Given the description of an element on the screen output the (x, y) to click on. 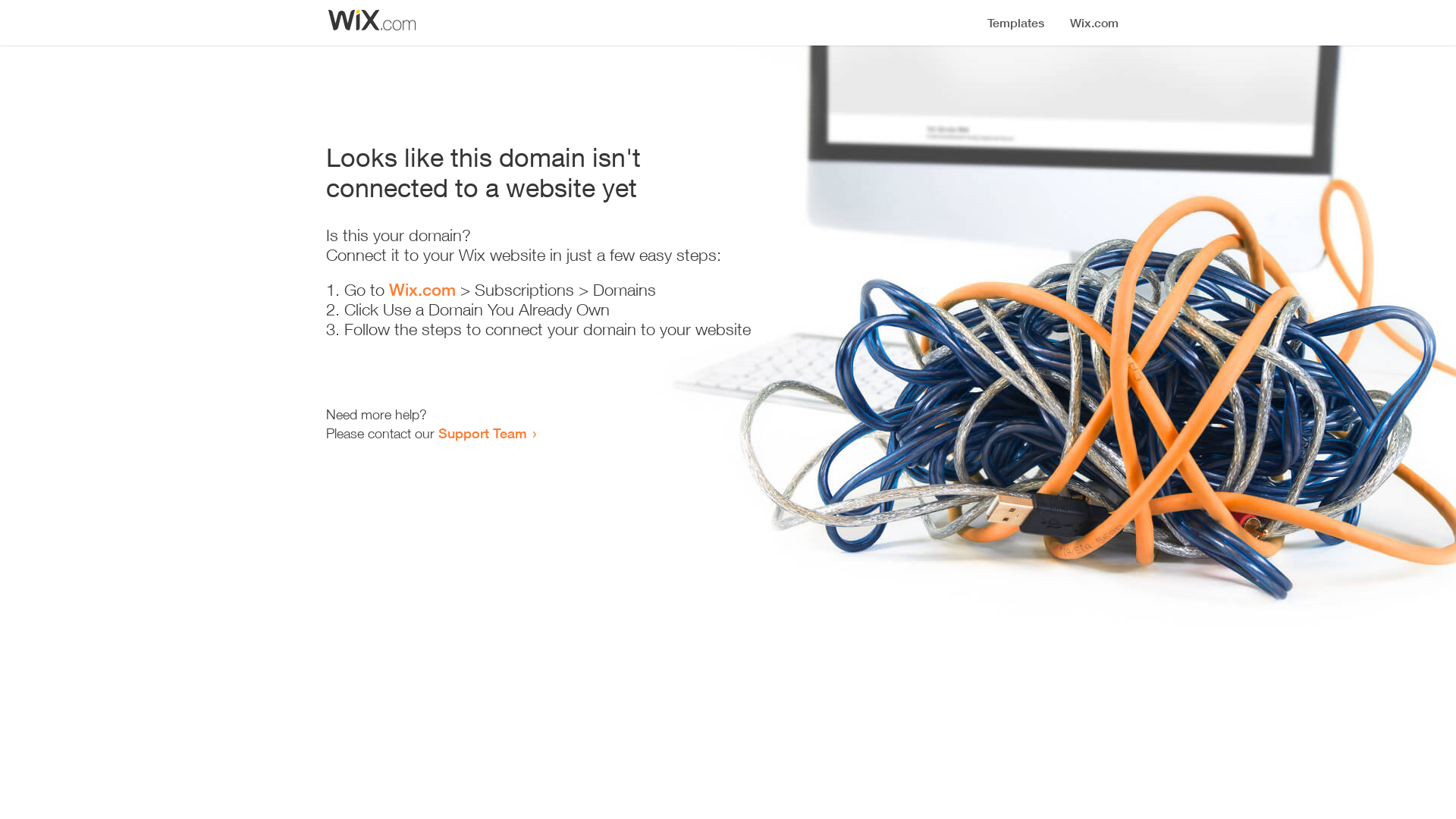
Wix.com Element type: text (422, 289)
Support Team Element type: text (482, 432)
